Given the description of an element on the screen output the (x, y) to click on. 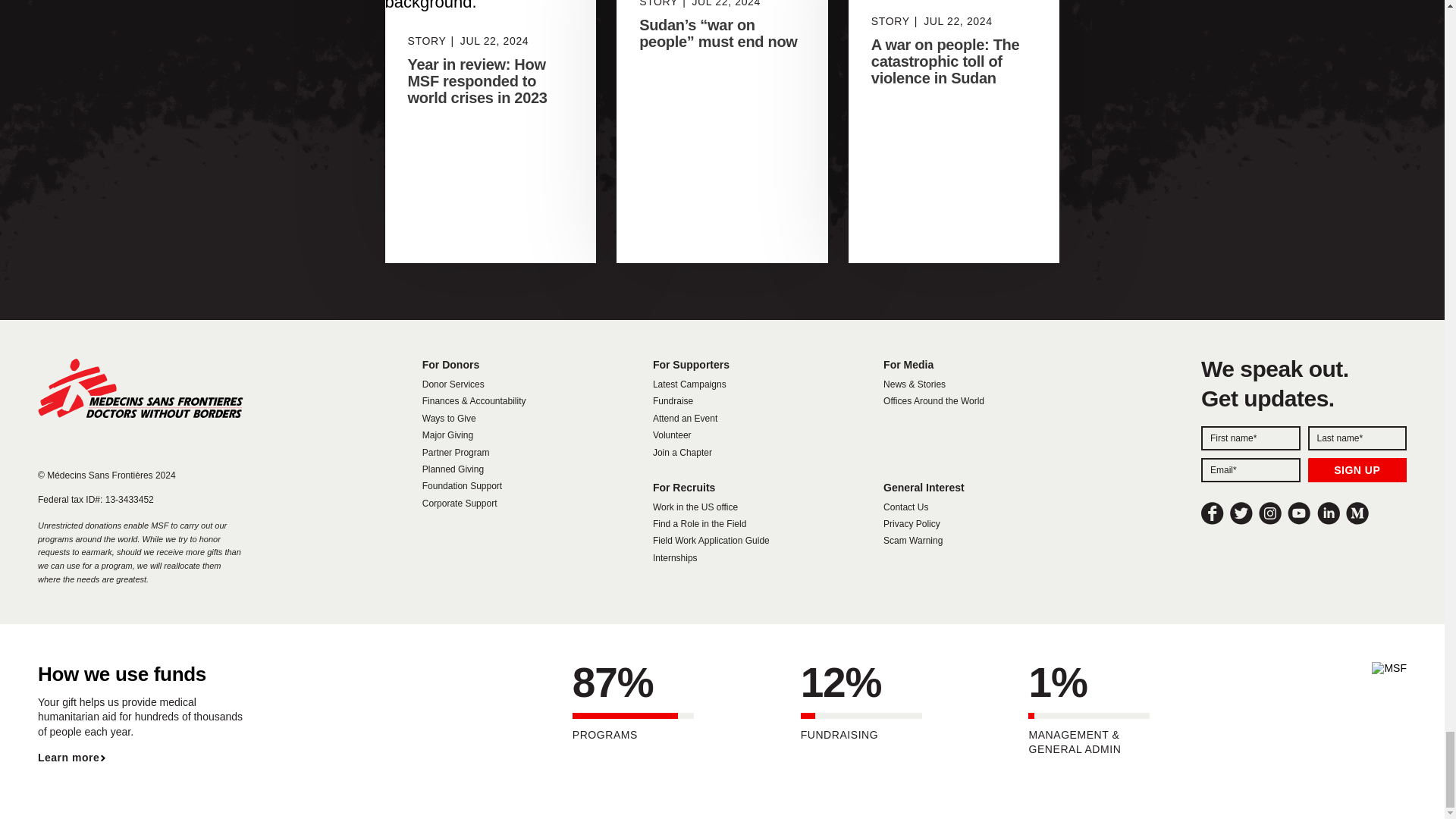
SIGN UP (1356, 469)
op (1356, 469)
Home (140, 387)
email (1250, 469)
